Given the description of an element on the screen output the (x, y) to click on. 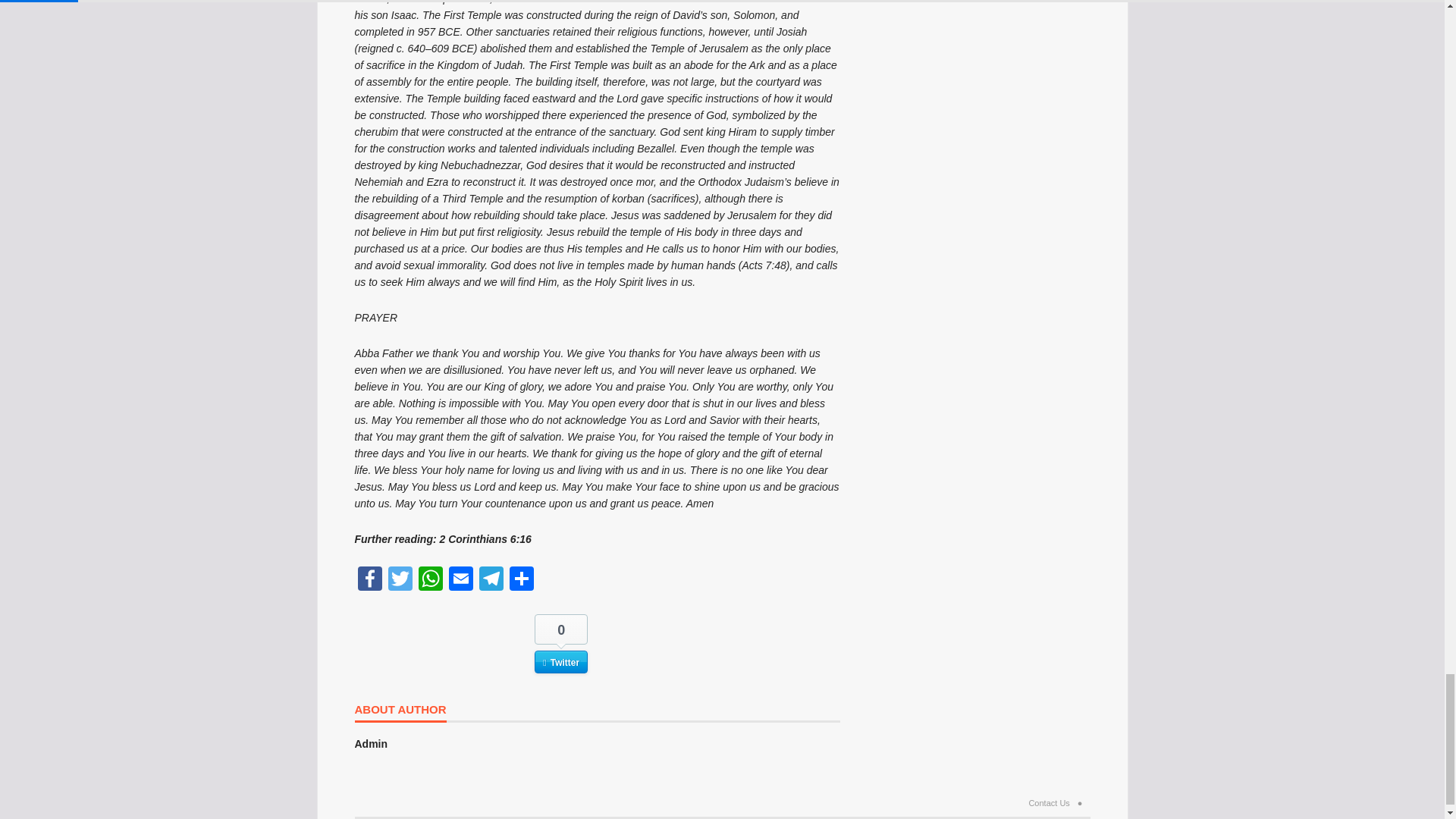
Email (460, 580)
WhatsApp (429, 580)
Telegram (491, 580)
Facebook (370, 580)
Twitter (399, 580)
Telegram (491, 580)
Facebook (370, 580)
WhatsApp (429, 580)
Twitter (399, 580)
Email (460, 580)
